Given the description of an element on the screen output the (x, y) to click on. 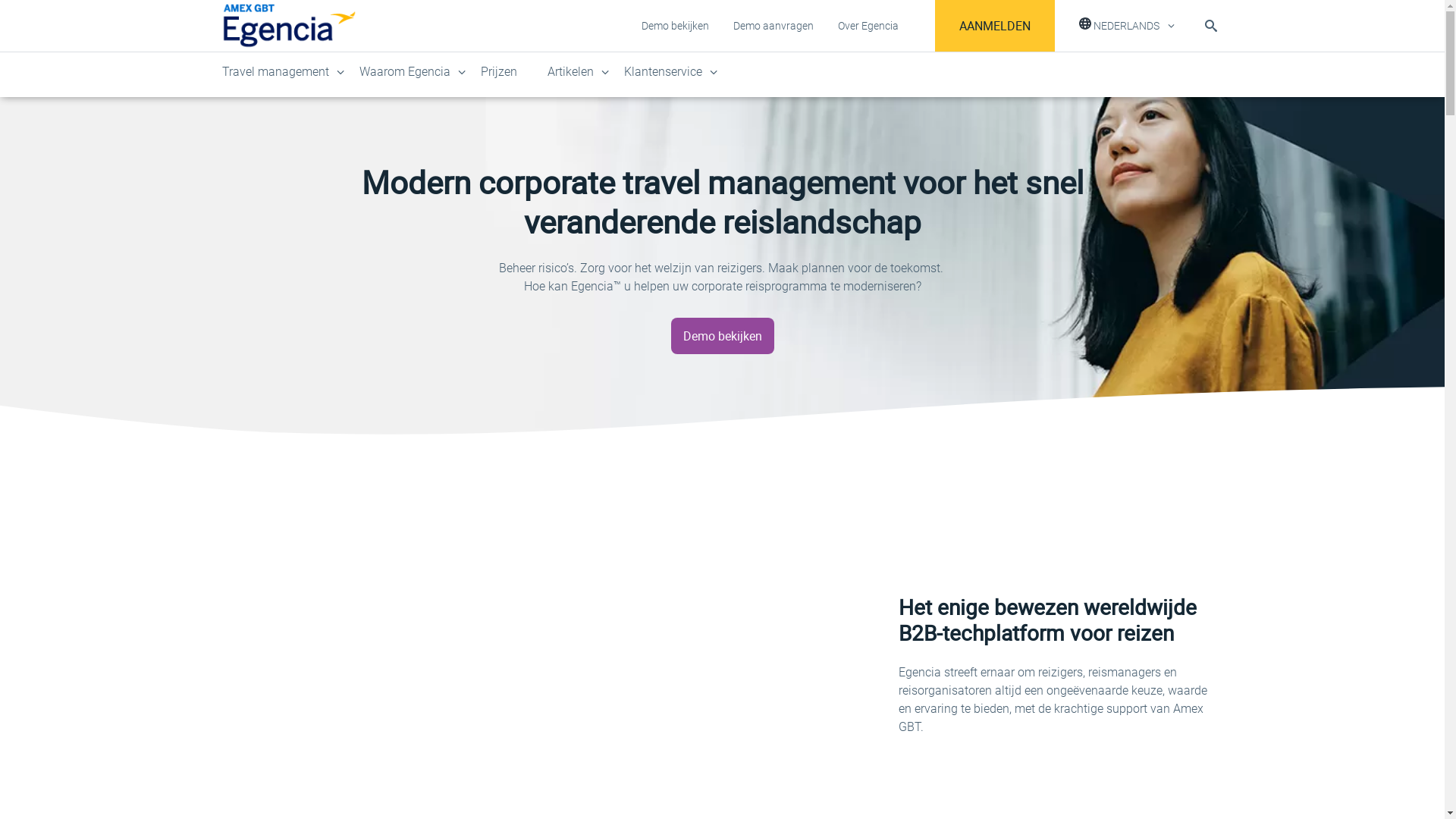
Prijzen Element type: text (498, 71)
Home Element type: hover (288, 25)
Demo bekijken Element type: text (675, 25)
AANMELDEN Element type: text (994, 25)
Demo bekijken Element type: text (721, 335)
Demo aanvragen Element type: text (772, 25)
Over Egencia Element type: text (867, 25)
NEDERLANDS Element type: text (1125, 25)
